Given the description of an element on the screen output the (x, y) to click on. 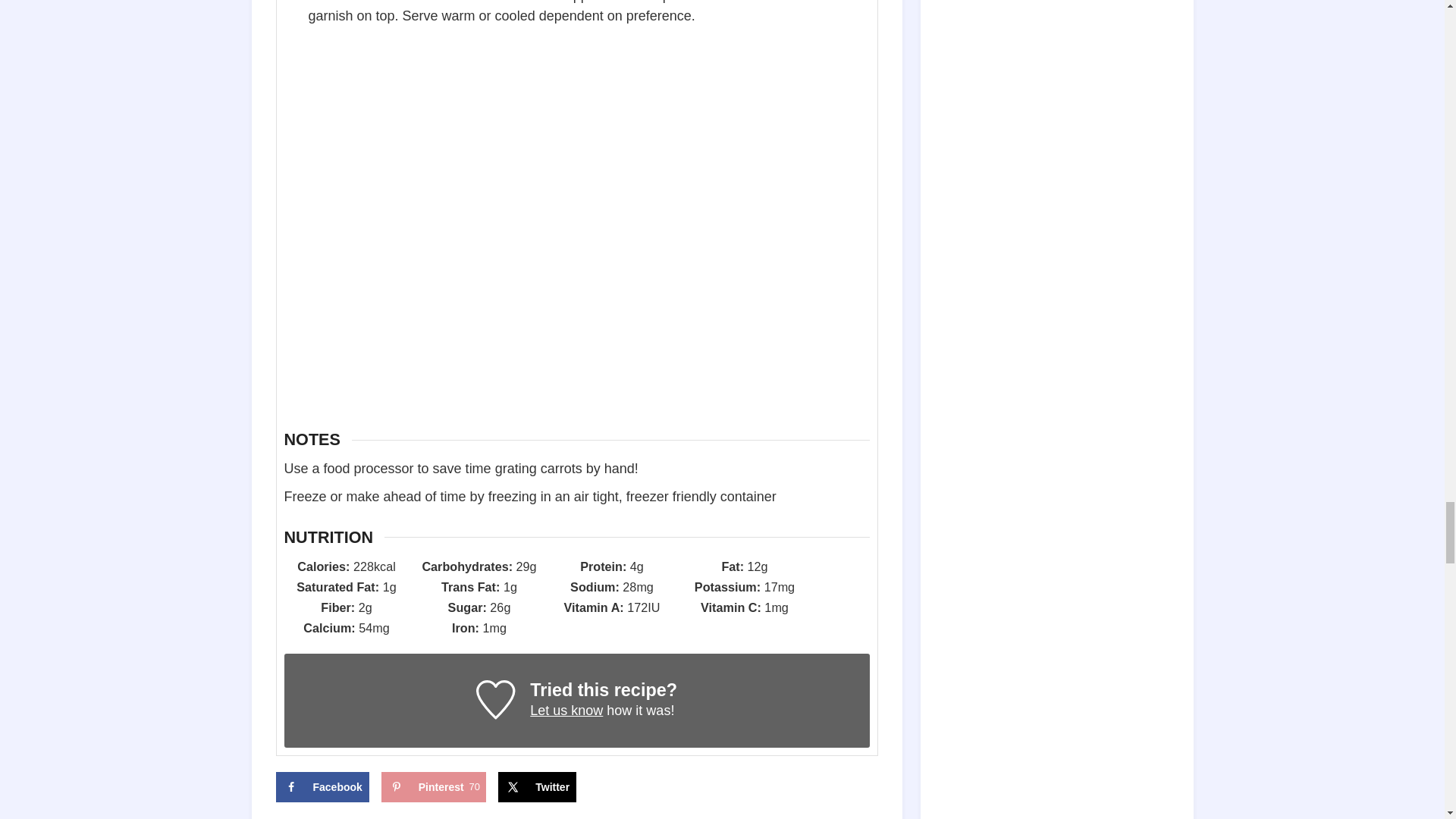
Share on Facebook (322, 787)
Share on X (536, 787)
Save to Pinterest (433, 787)
